Given the description of an element on the screen output the (x, y) to click on. 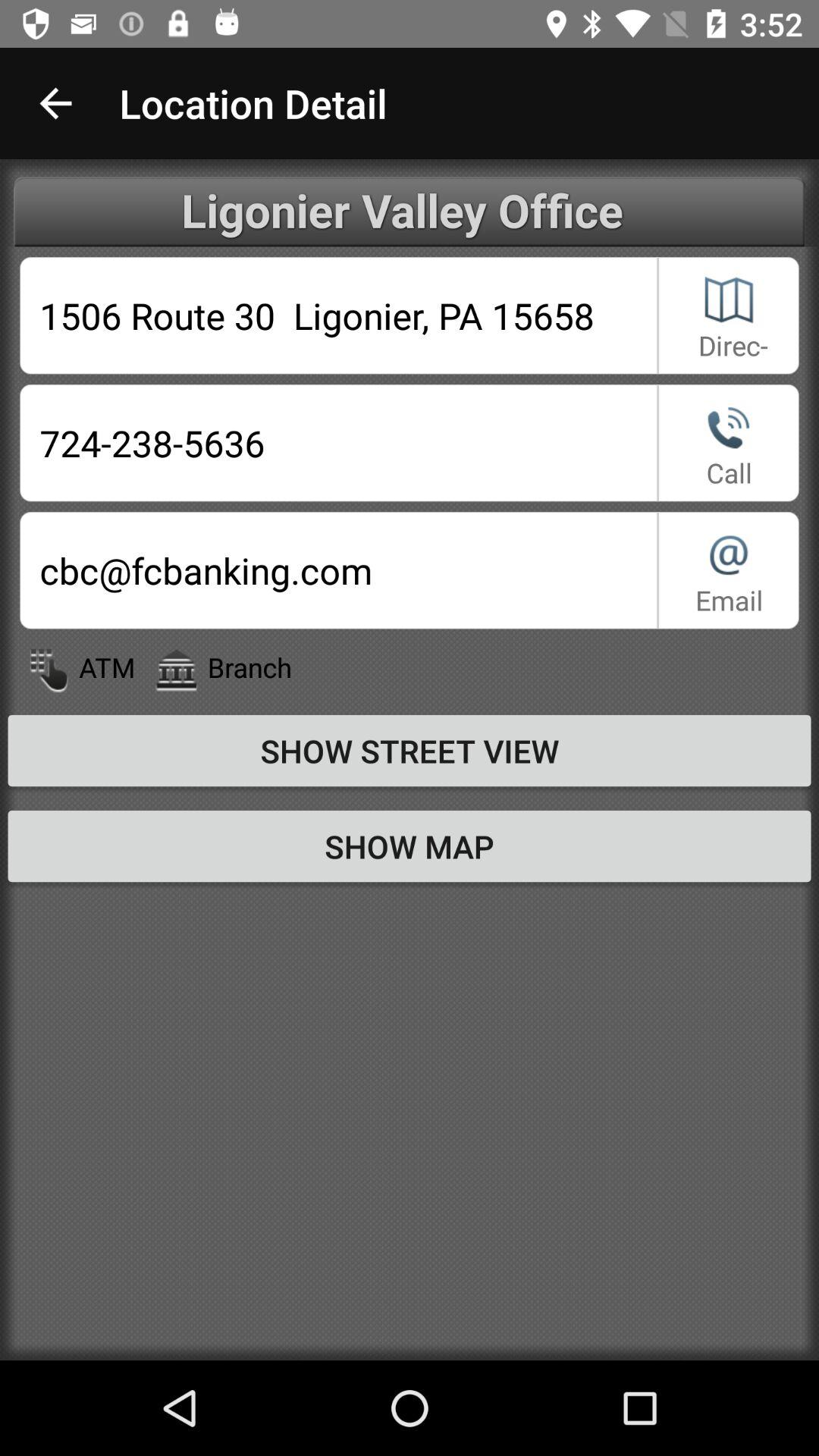
choose the icon above ligonier valley office (55, 103)
